Given the description of an element on the screen output the (x, y) to click on. 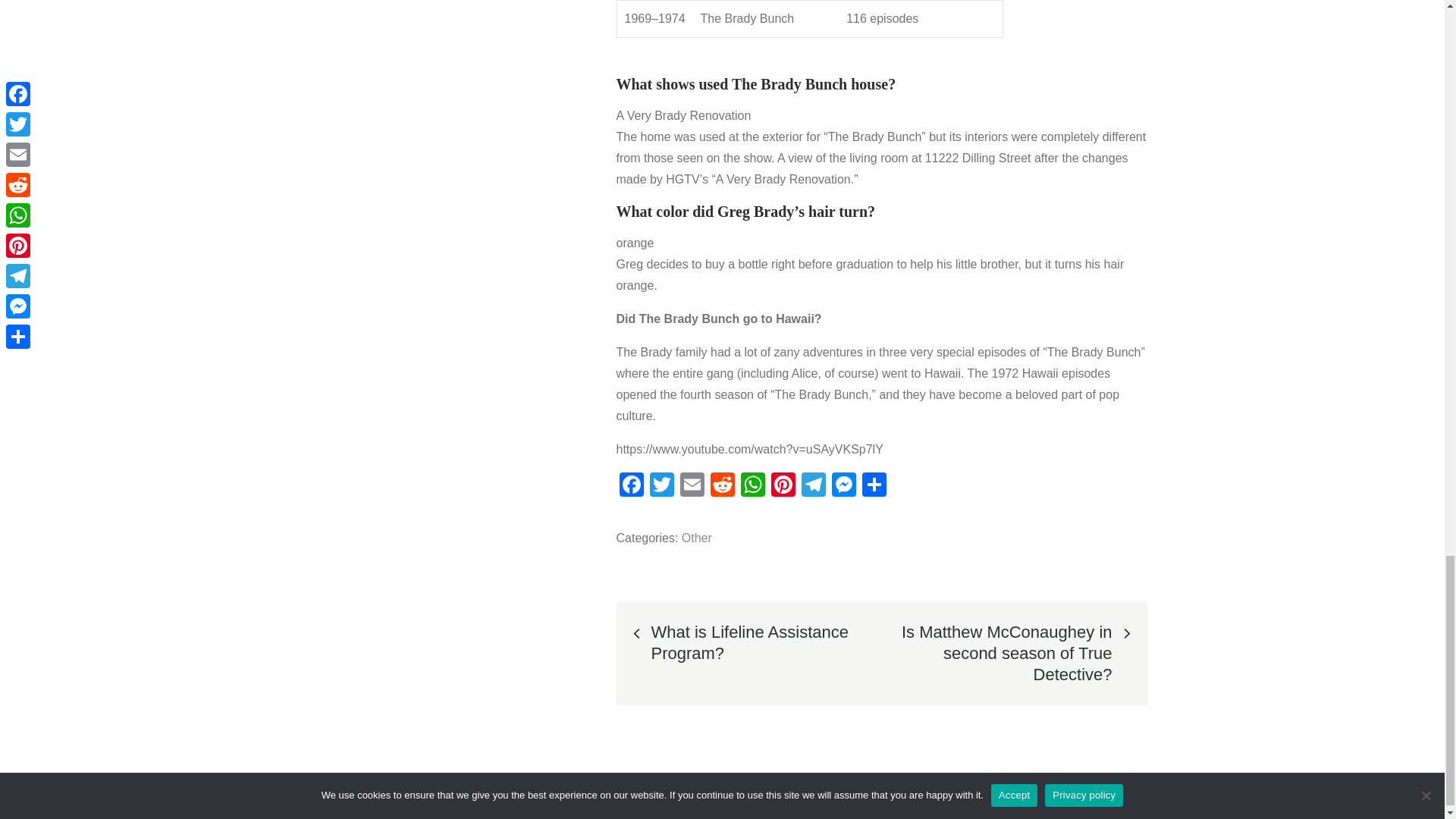
WhatsApp (751, 486)
Facebook (630, 486)
Messenger (843, 486)
Email (691, 486)
Email (691, 486)
Telegram (812, 486)
WhatsApp (751, 486)
Share (873, 486)
Reddit (721, 486)
Telegram (812, 486)
Messenger (843, 486)
Pinterest (782, 486)
Facebook (630, 486)
Reddit (721, 486)
Twitter (661, 486)
